Given the description of an element on the screen output the (x, y) to click on. 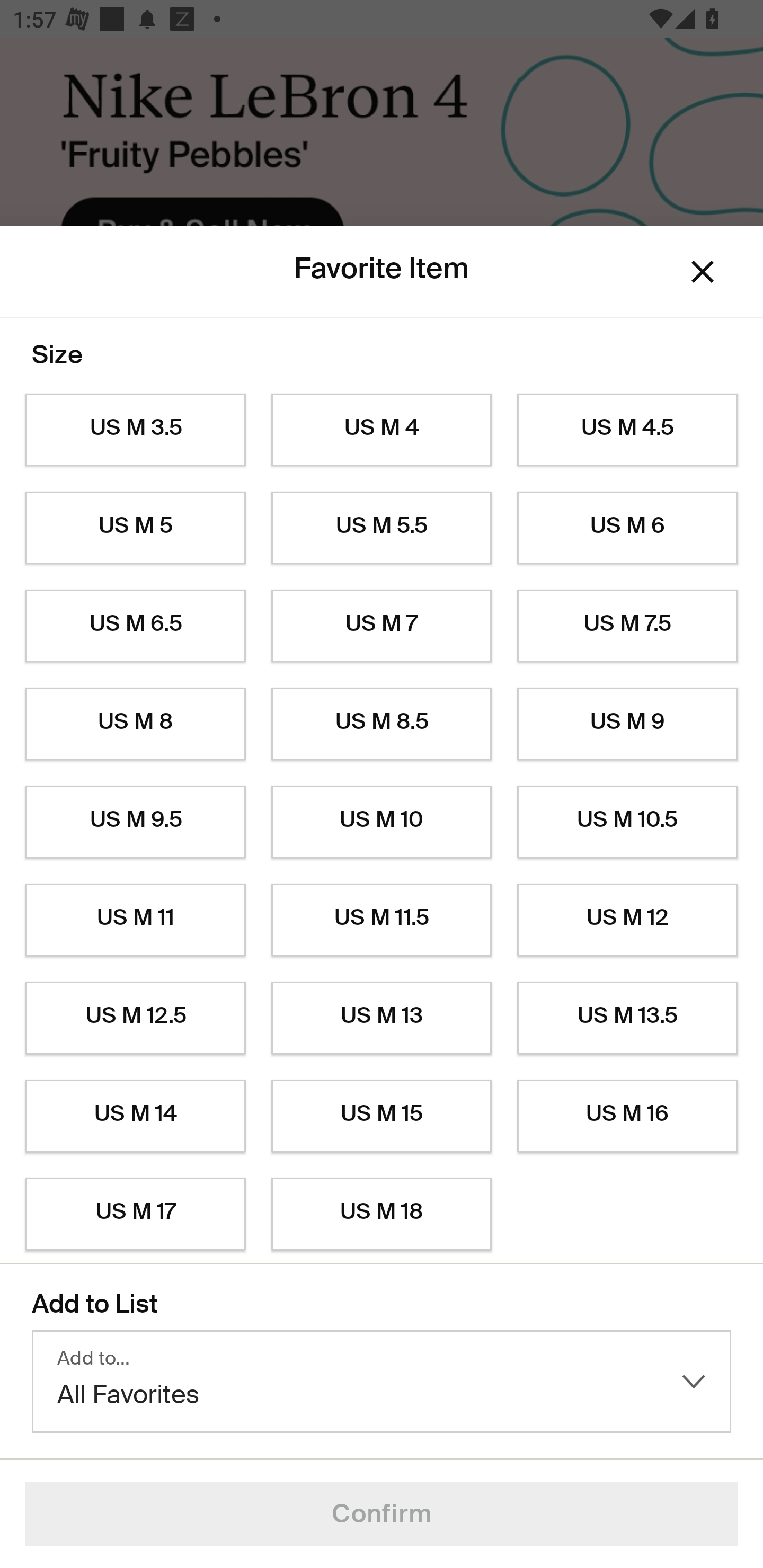
Dismiss (702, 271)
US M 3.5 (135, 430)
US M 4 (381, 430)
US M 4.5 (627, 430)
US M 5 (135, 527)
US M 5.5 (381, 527)
US M 6 (627, 527)
US M 6.5 (135, 626)
US M 7 (381, 626)
US M 7.5 (627, 626)
US M 8 (135, 724)
US M 8.5 (381, 724)
US M 9 (627, 724)
US M 9.5 (135, 822)
US M 10 (381, 822)
US M 10.5 (627, 822)
US M 11 (135, 919)
US M 11.5 (381, 919)
US M 12 (627, 919)
US M 12.5 (135, 1018)
US M 13 (381, 1018)
US M 13.5 (627, 1018)
US M 14 (135, 1116)
US M 15 (381, 1116)
US M 16 (627, 1116)
US M 17 (135, 1214)
US M 18 (381, 1214)
Add to… All Favorites (381, 1381)
Confirm (381, 1513)
